Given the description of an element on the screen output the (x, y) to click on. 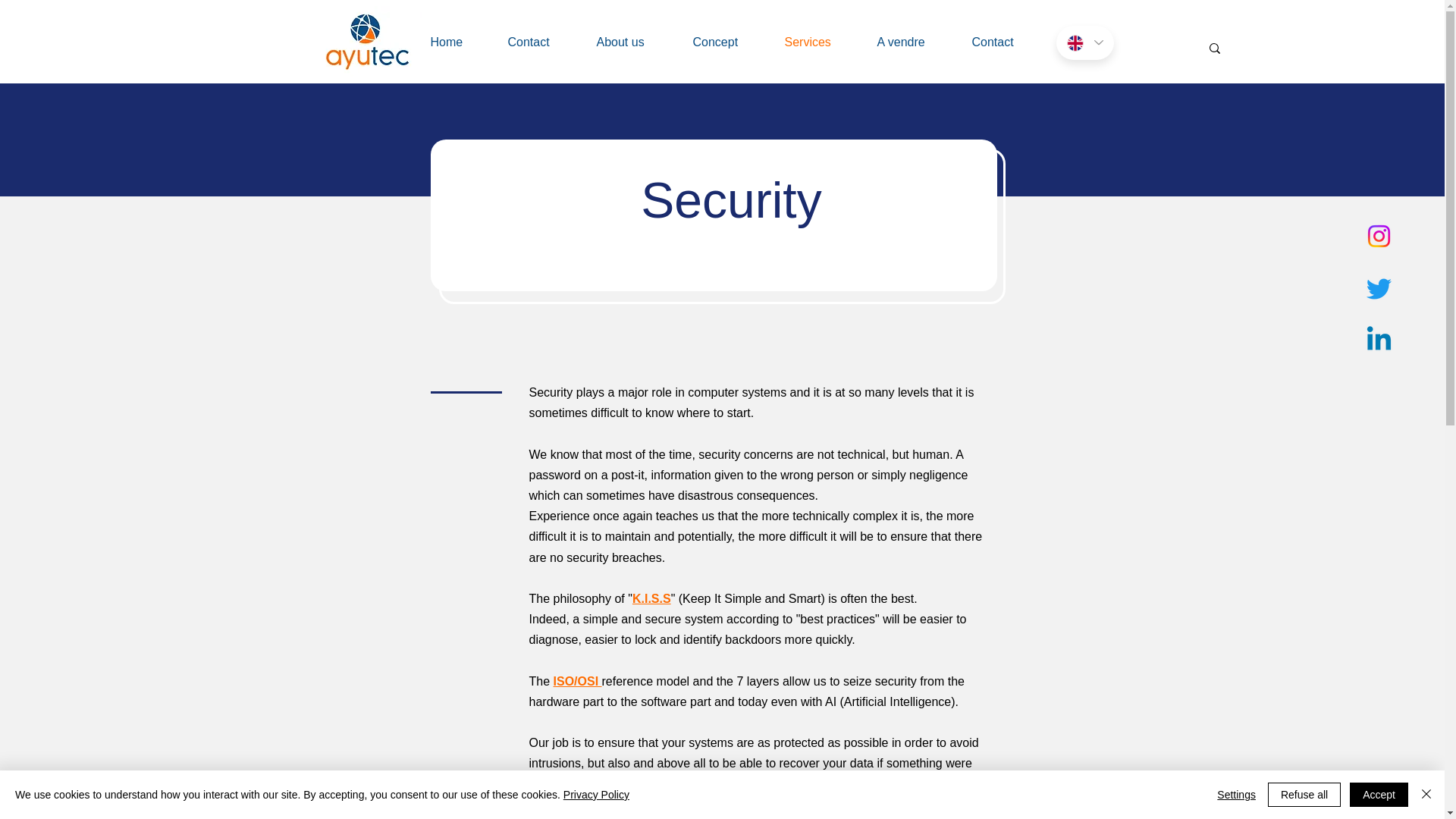
Accept (1378, 794)
Services (819, 42)
Home (457, 42)
K.I.S.S (651, 598)
Refuse all (1304, 794)
About us (633, 42)
Privacy Policy (595, 794)
Concept (727, 42)
Contact (1003, 42)
A vendre (913, 42)
Site ayutec.ch (368, 40)
reference model  (647, 680)
Contact (540, 42)
